Given the description of an element on the screen output the (x, y) to click on. 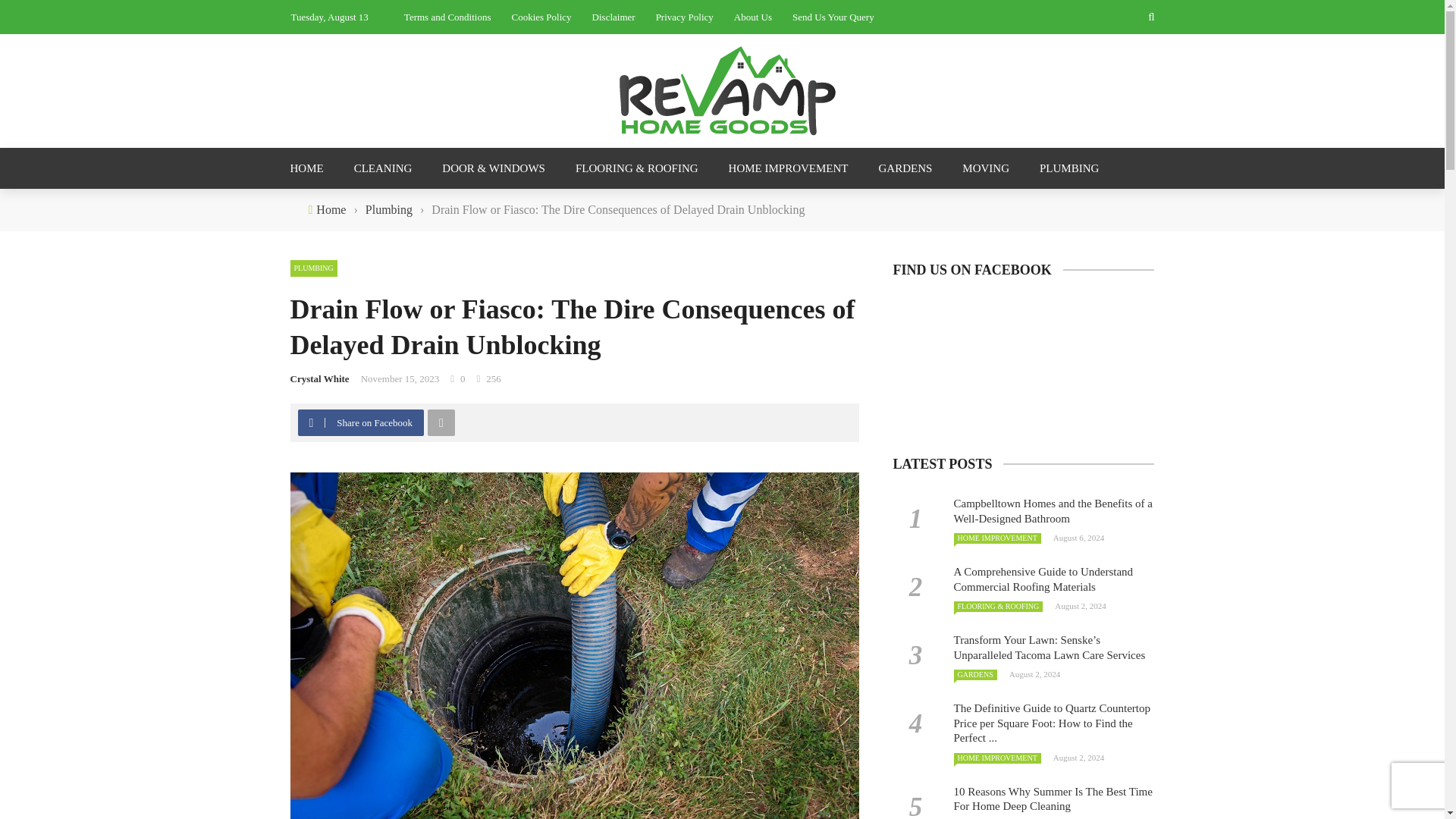
Privacy Policy (684, 16)
Send Us Your Query (833, 16)
Share on Facebook (361, 422)
Crystal White (319, 378)
Home (330, 209)
CLEANING (383, 168)
Cookies Policy (540, 16)
HOME (313, 168)
HOME IMPROVEMENT (788, 168)
